Given the description of an element on the screen output the (x, y) to click on. 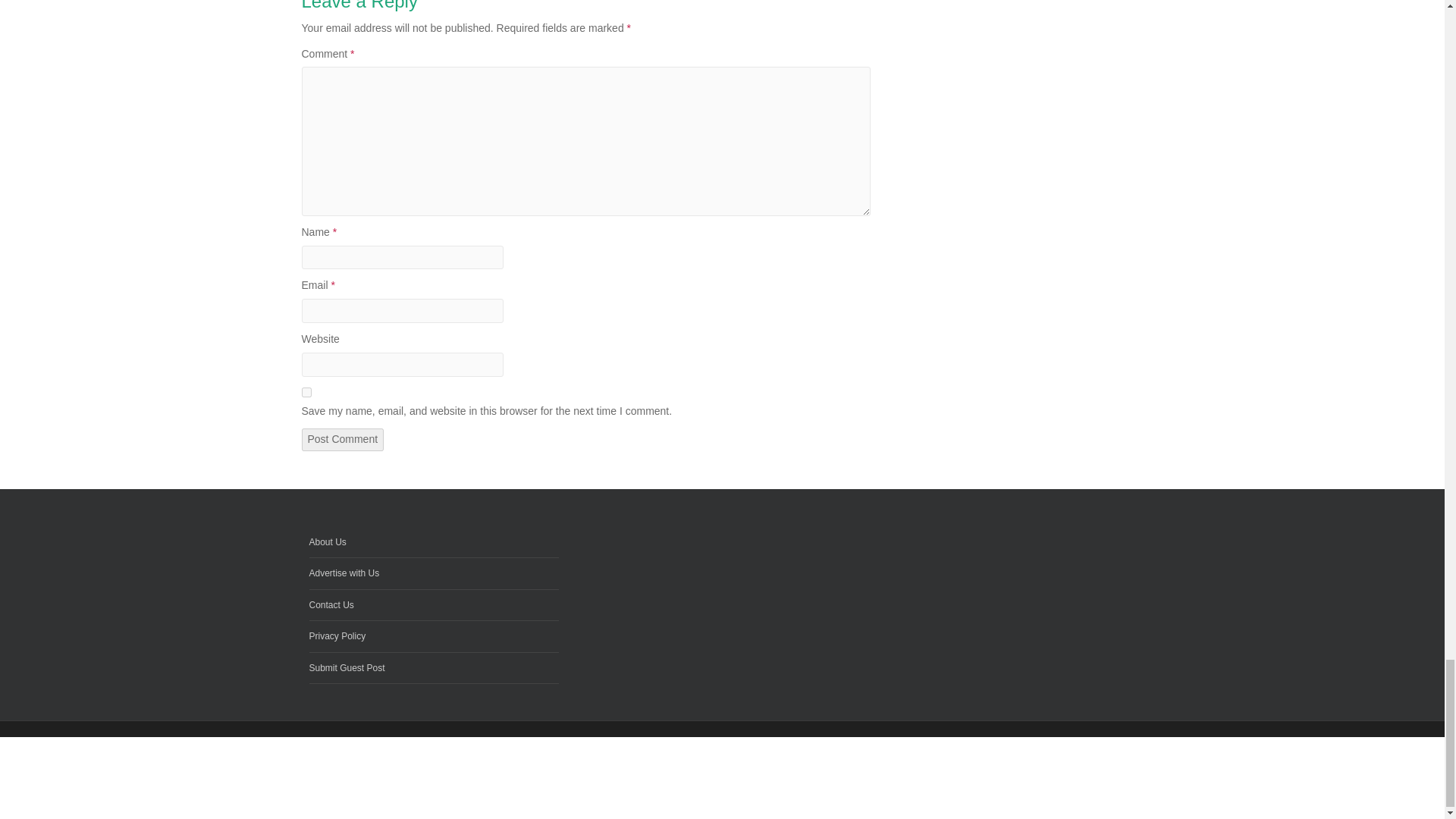
Post Comment (342, 439)
yes (306, 392)
